Given the description of an element on the screen output the (x, y) to click on. 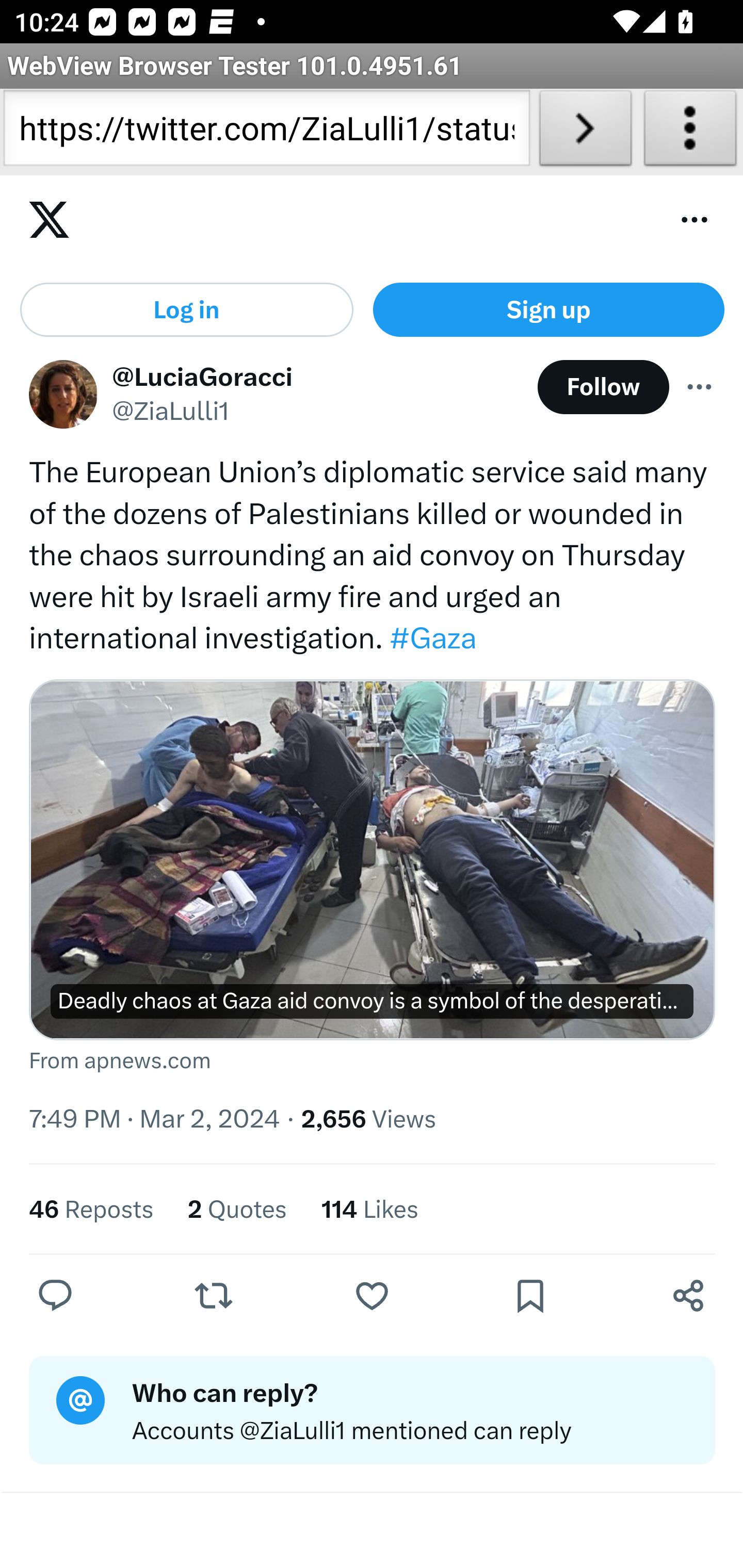
Load URL (585, 132)
About WebView (690, 132)
ZiaLulli1 (63, 395)
@LuciaGoracci (203, 377)
Follow @ZiaLulli1 (602, 388)
More (699, 388)
@ZiaLulli1 (171, 413)
#Gaza (432, 639)
From apnews.com From  apnews.com (372, 1062)
7:49 PM · Mar 2, 2024 (154, 1119)
46 Reposts 46   Reposts (91, 1210)
2 Quotes 2   Quotes (235, 1210)
114 Likes 114   Likes (369, 1210)
Reply (55, 1295)
Repost (212, 1295)
Like (371, 1295)
0 Bookmarks. Bookmark (534, 1295)
Share post (688, 1295)
